Given the description of an element on the screen output the (x, y) to click on. 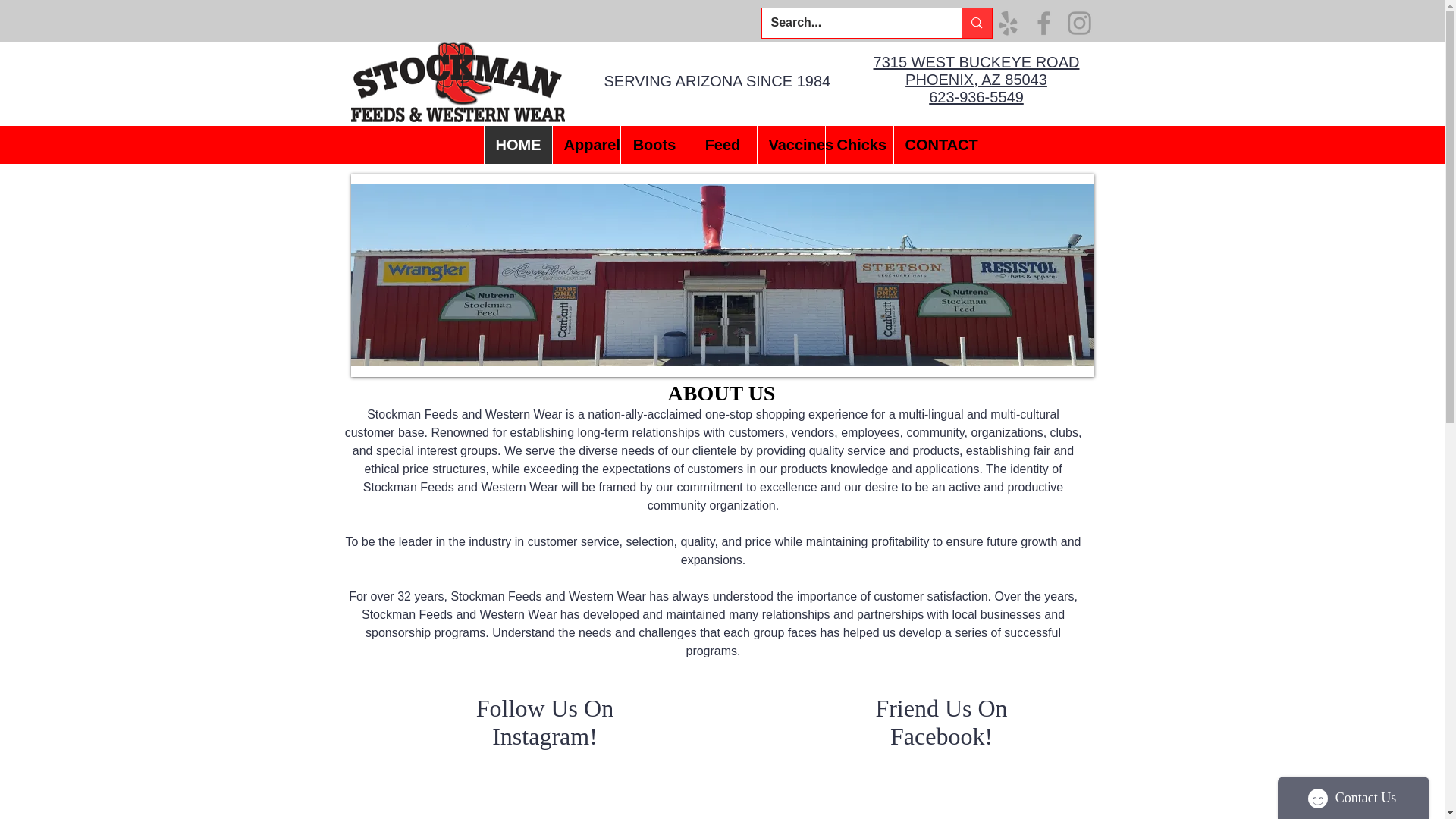
Instagram Feed (552, 789)
